Given the description of an element on the screen output the (x, y) to click on. 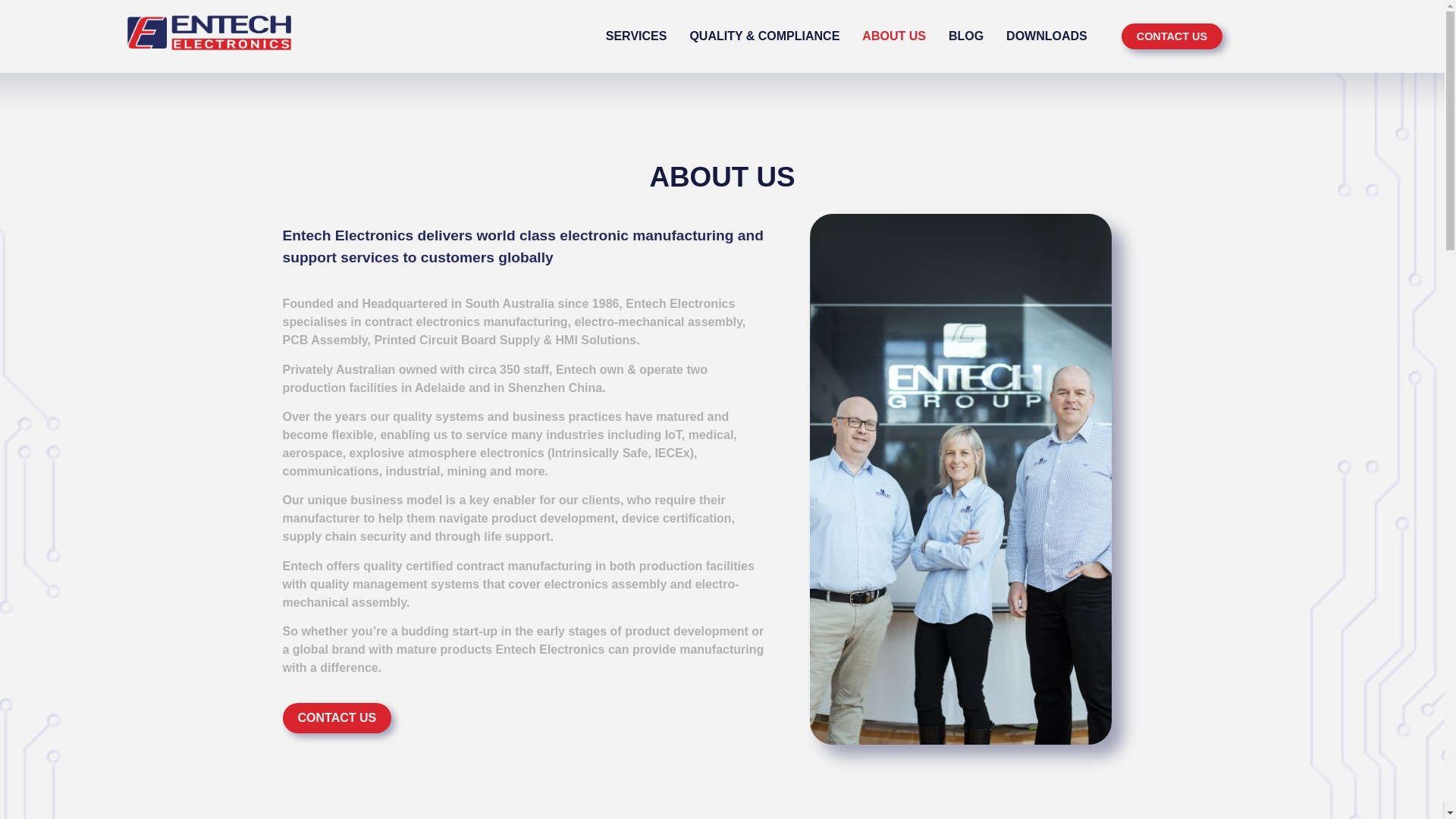
ABOUT US (893, 36)
CONTACT US (1172, 36)
BLOG (965, 36)
DOWNLOADS (1046, 36)
SERVICES (636, 36)
CONTACT US (336, 717)
